Given the description of an element on the screen output the (x, y) to click on. 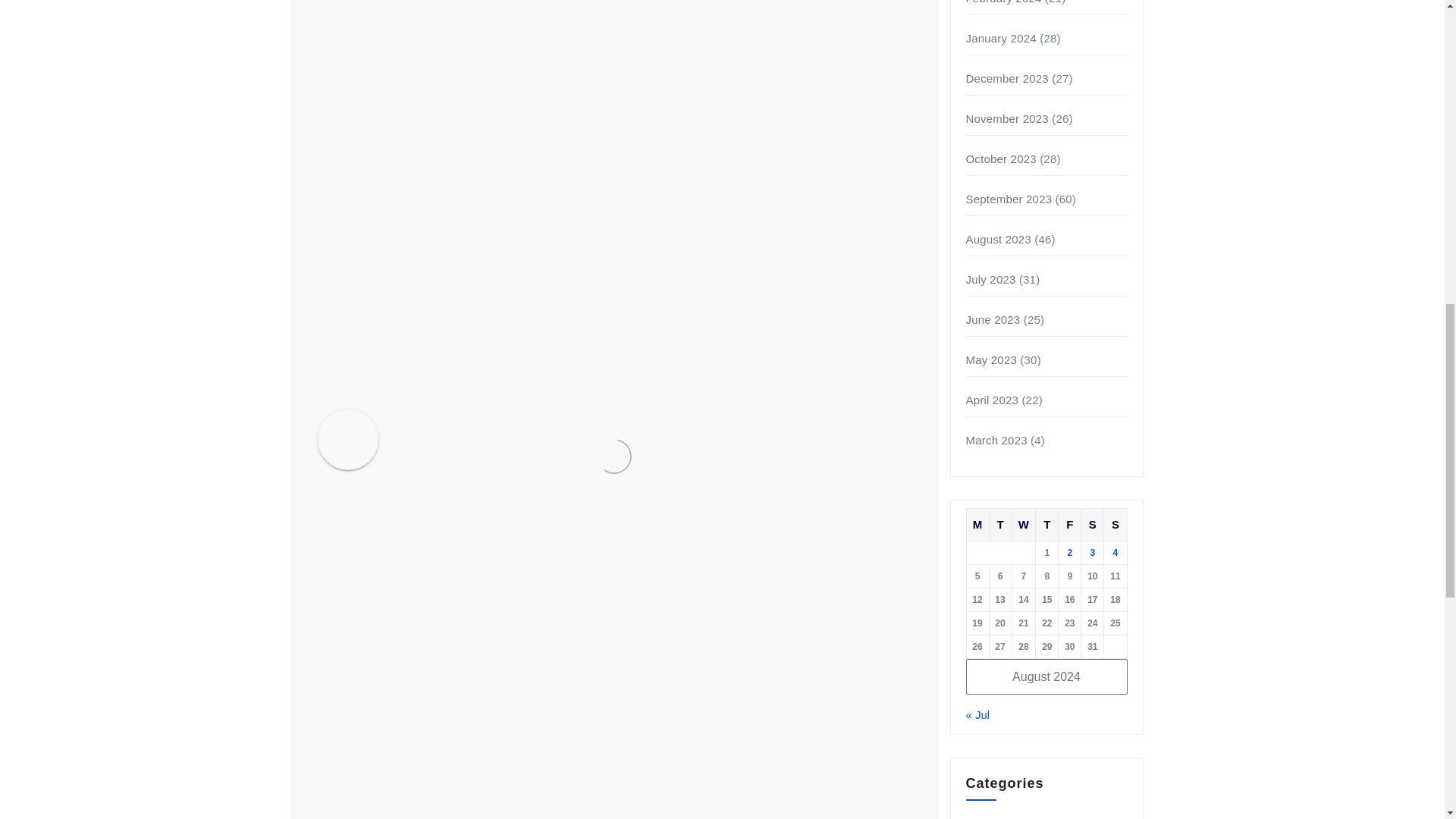
January 2024 (1001, 38)
May 2023 (991, 359)
August 2023 (998, 238)
March 2023 (996, 440)
October 2023 (1001, 158)
February 2024 (1004, 2)
June 2023 (993, 318)
Gambling (991, 818)
Operanomadimilano (524, 421)
September 2023 (1009, 198)
July 2023 (991, 278)
April 2023 (992, 399)
November 2023 (1007, 118)
December 2023 (1007, 78)
